Given the description of an element on the screen output the (x, y) to click on. 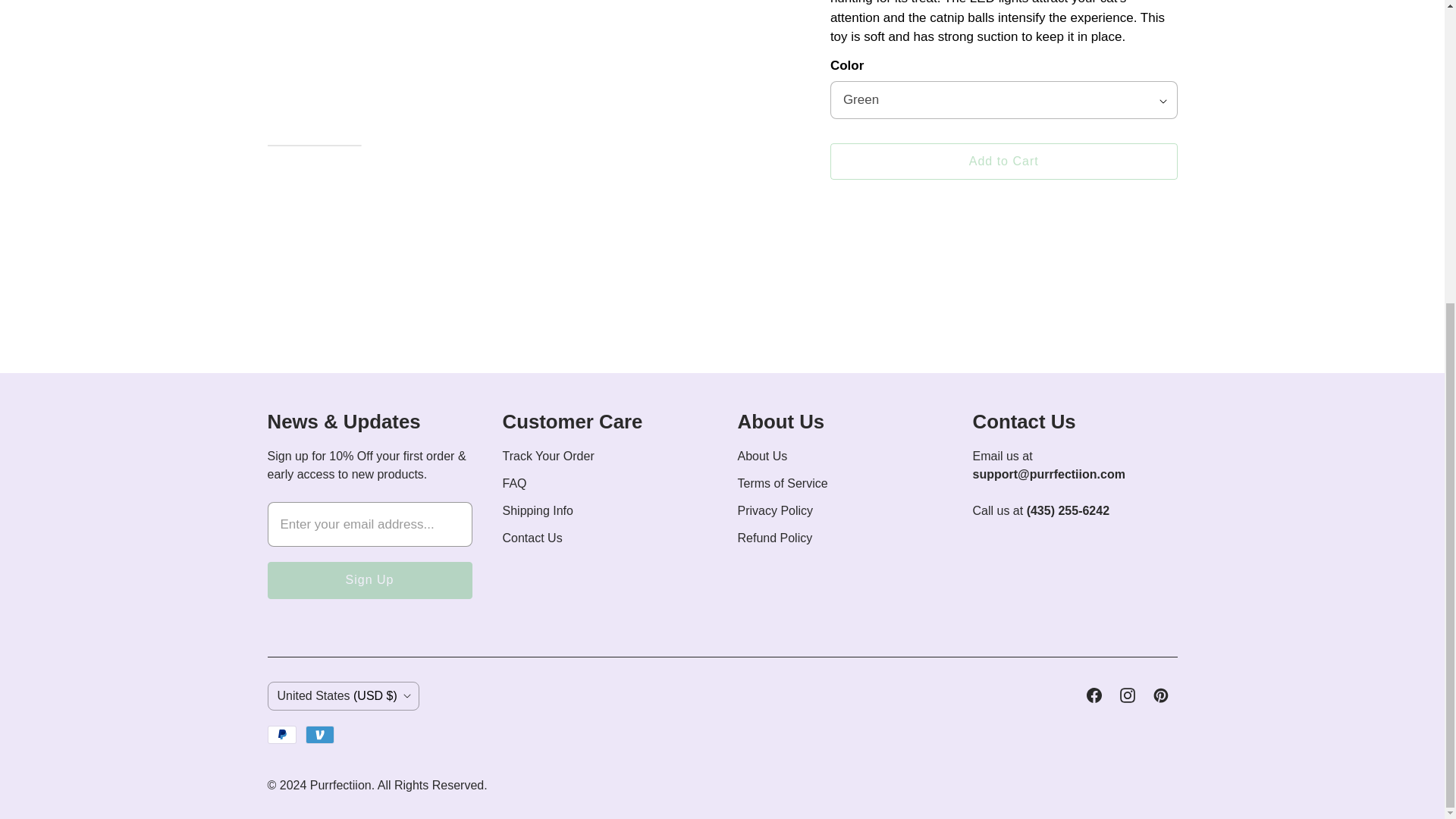
PayPal (280, 734)
Sign Up (368, 579)
Venmo (319, 734)
